Given the description of an element on the screen output the (x, y) to click on. 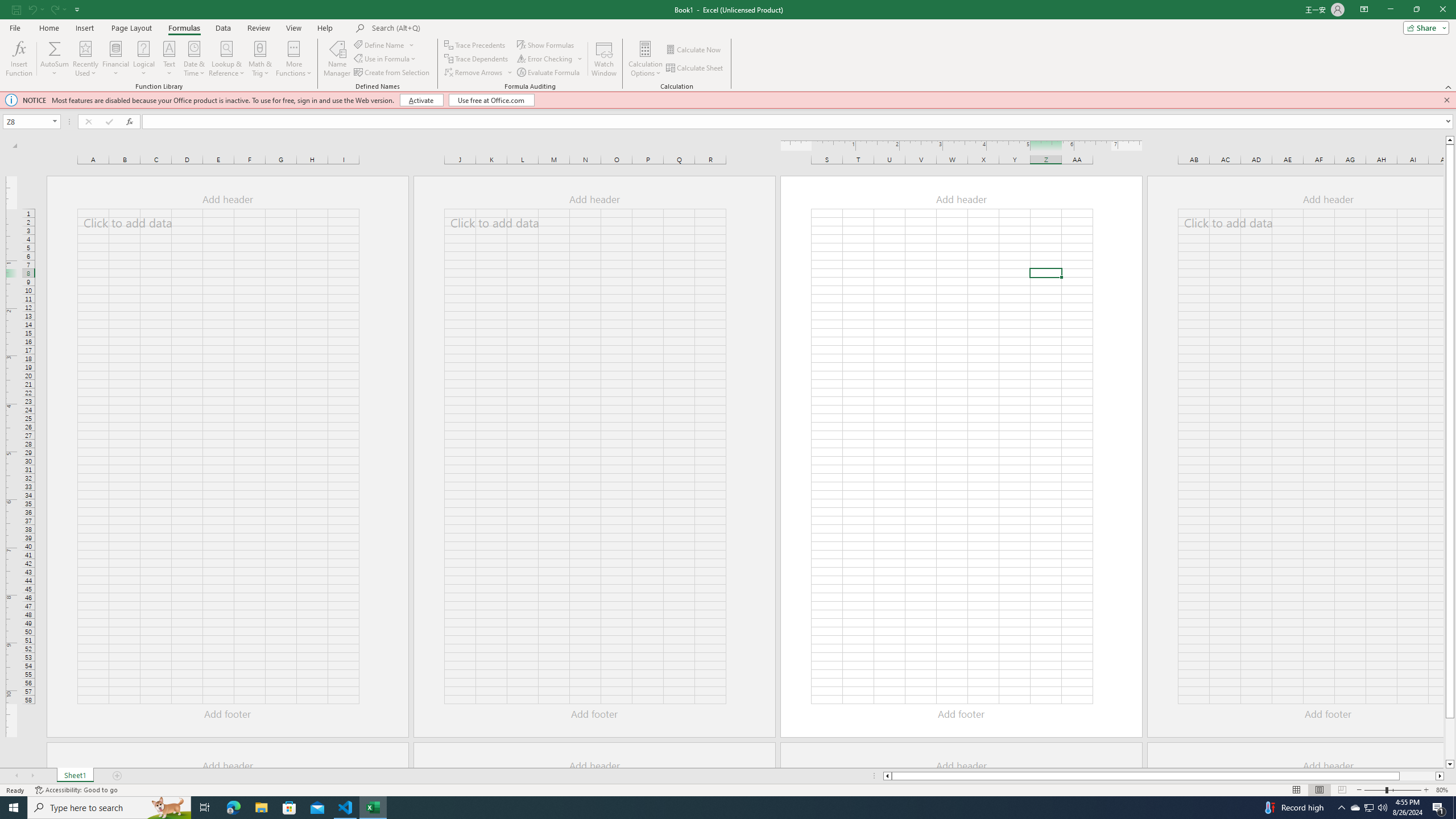
Calculate Sheet (694, 67)
Date & Time (194, 58)
Calculate Now (694, 49)
Remove Arrows (474, 72)
Insert Function... (18, 58)
